Given the description of an element on the screen output the (x, y) to click on. 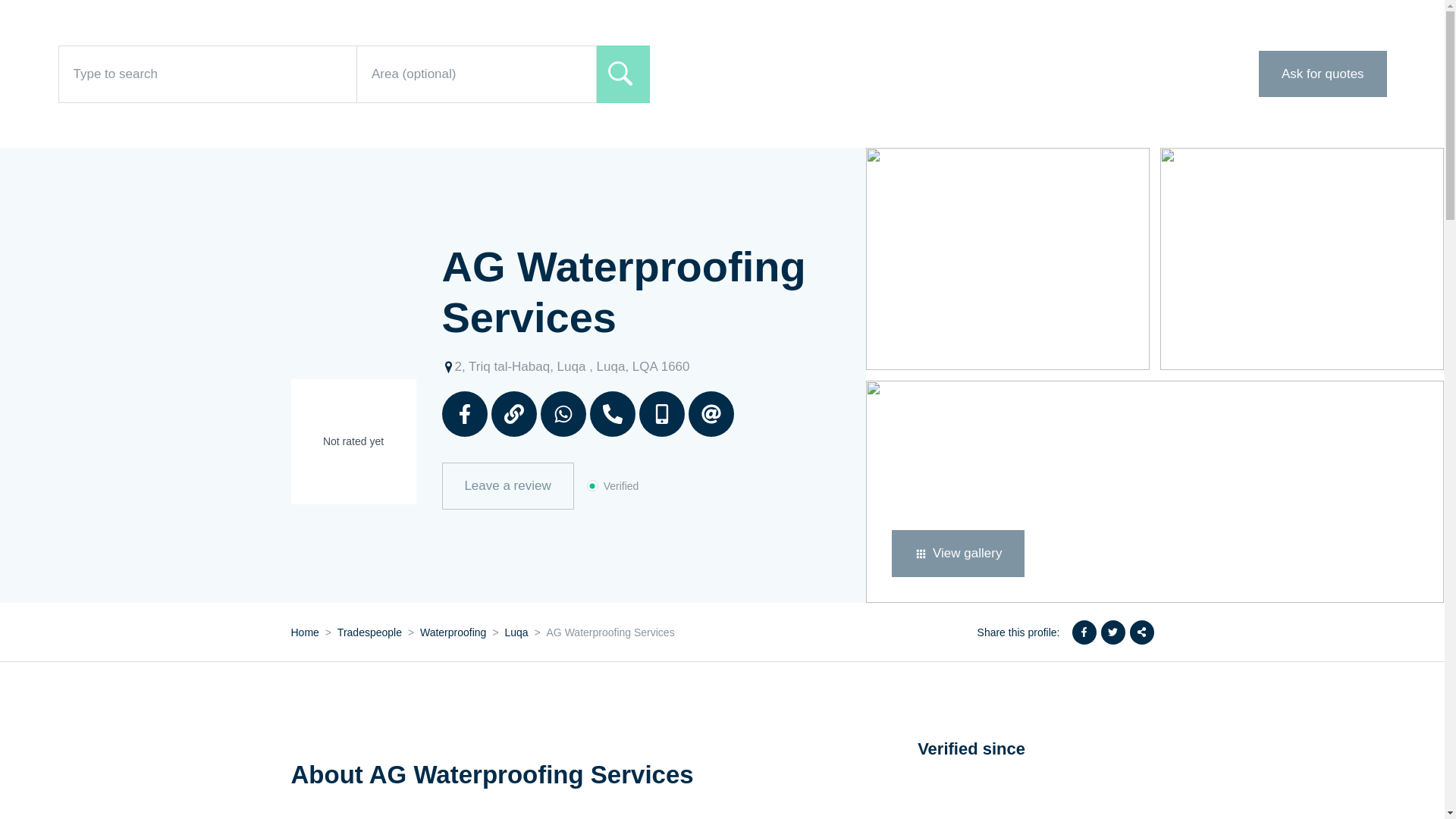
Tradespeople (369, 632)
Leave a review (507, 485)
View gallery (958, 553)
2, Triq tal-Habaq, Luqa , Luqa, LQA 1660 (564, 369)
Ask for quotes (1322, 73)
Home (304, 632)
Waterproofing (453, 632)
Luqa (515, 632)
